Given the description of an element on the screen output the (x, y) to click on. 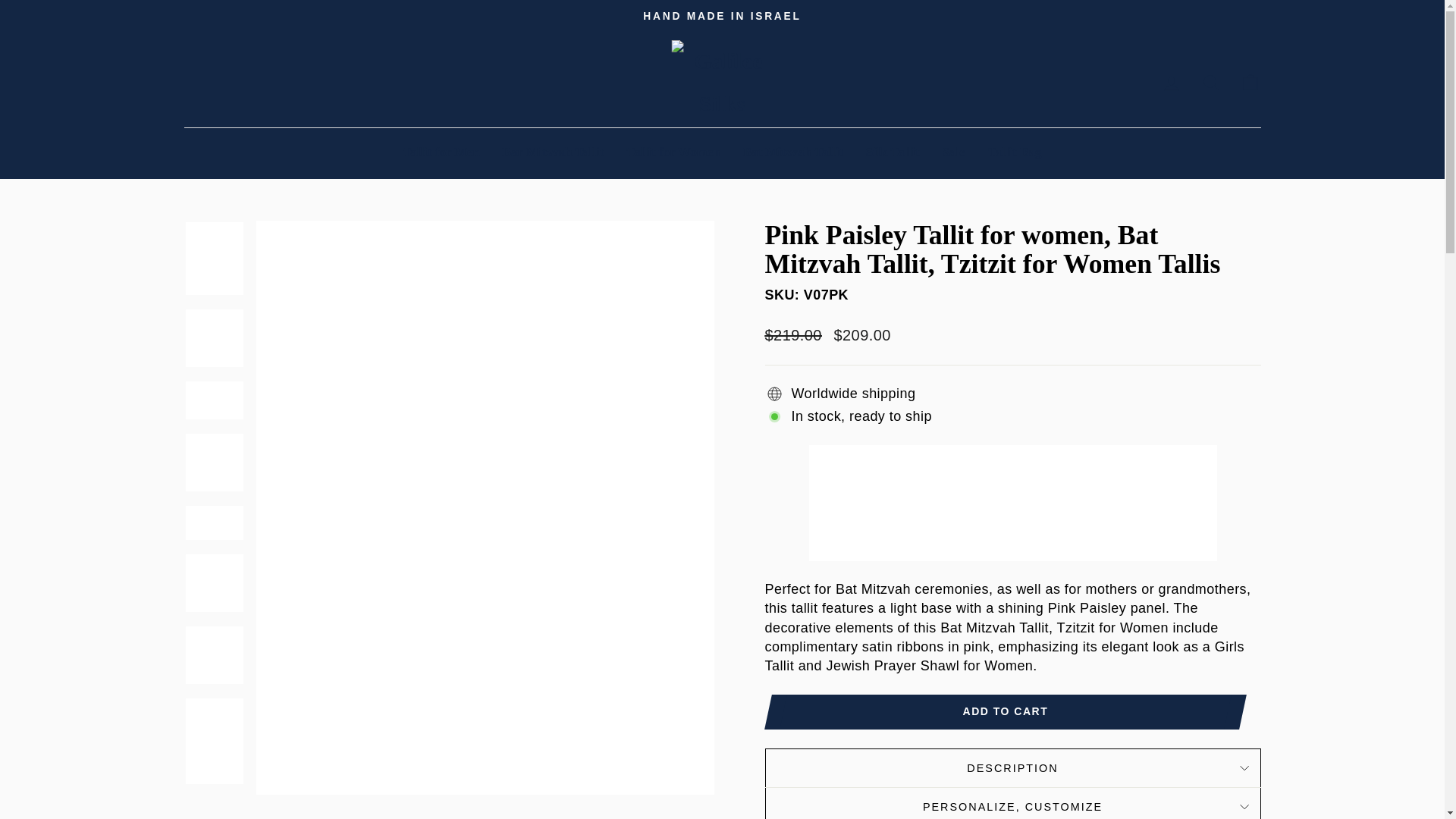
Sale (953, 151)
Search (1210, 82)
Tallit for Women (672, 151)
Tallit for Men (441, 151)
Log in (1171, 82)
Silk Tallit (892, 151)
Cart (1249, 82)
Tallit Bag (1014, 151)
Bar Mitzvah Tallit (553, 151)
